Given the description of an element on the screen output the (x, y) to click on. 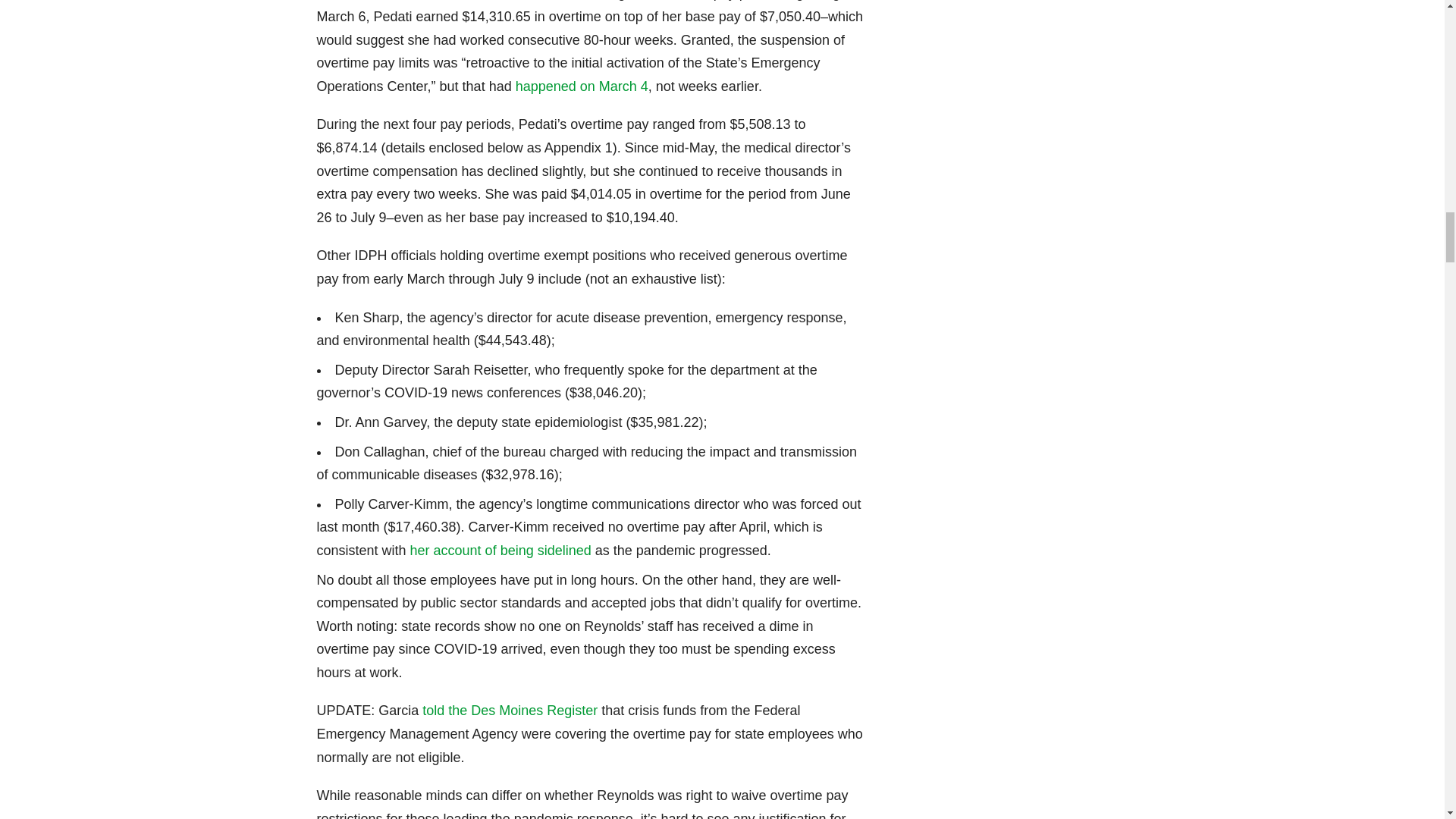
her account of being sidelined (500, 549)
told the Des Moines Register (509, 710)
happened on March 4 (581, 86)
